Given the description of an element on the screen output the (x, y) to click on. 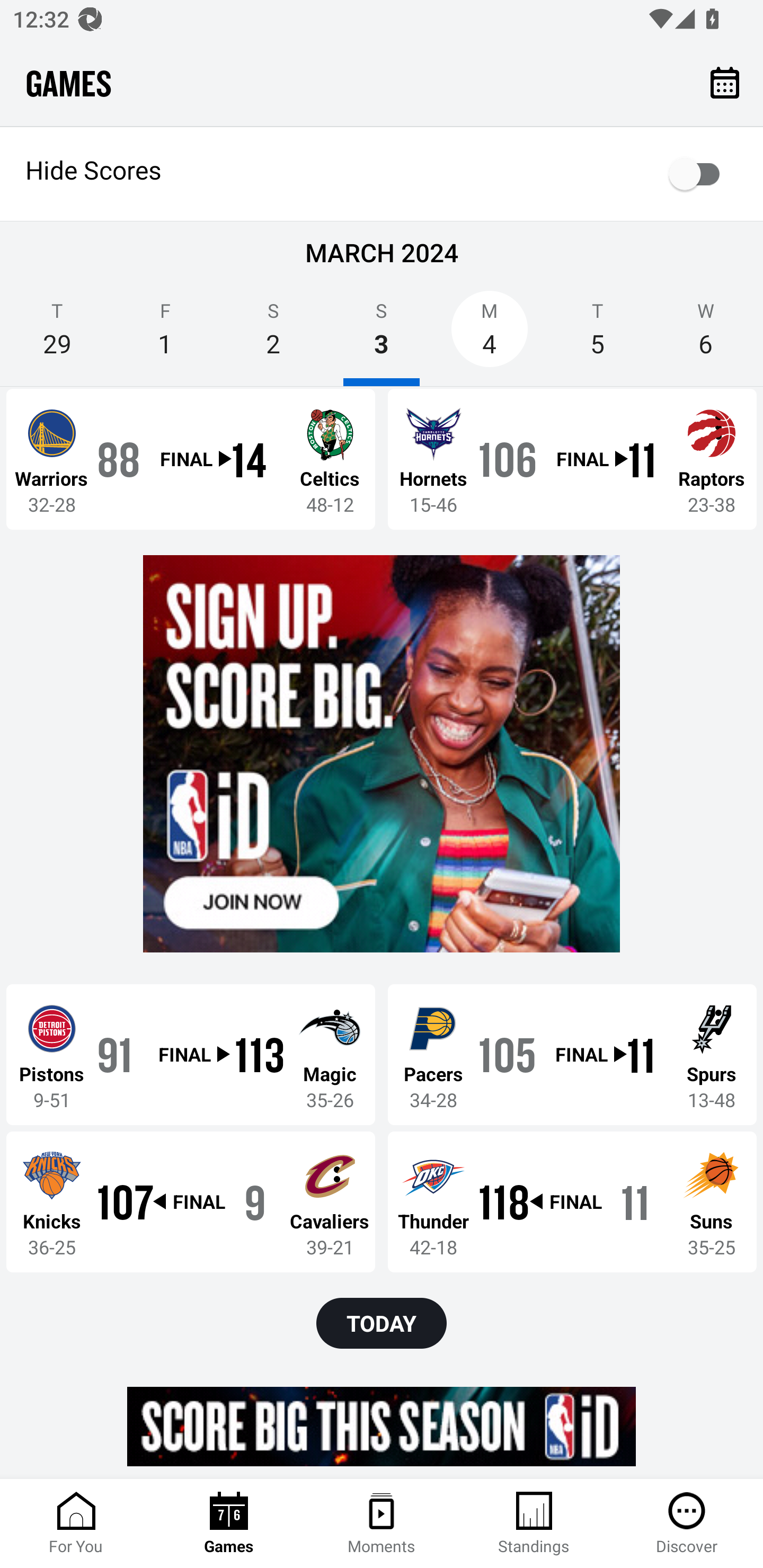
Calendar (724, 81)
Hide Scores (381, 174)
T 29 (57, 334)
F 1 (165, 334)
S 2 (273, 334)
S 3 (381, 334)
M 4 (489, 334)
T 5 (597, 334)
W 6 (705, 334)
TODAY (381, 1323)
For You (76, 1523)
Moments (381, 1523)
Standings (533, 1523)
Discover (686, 1523)
